Given the description of an element on the screen output the (x, y) to click on. 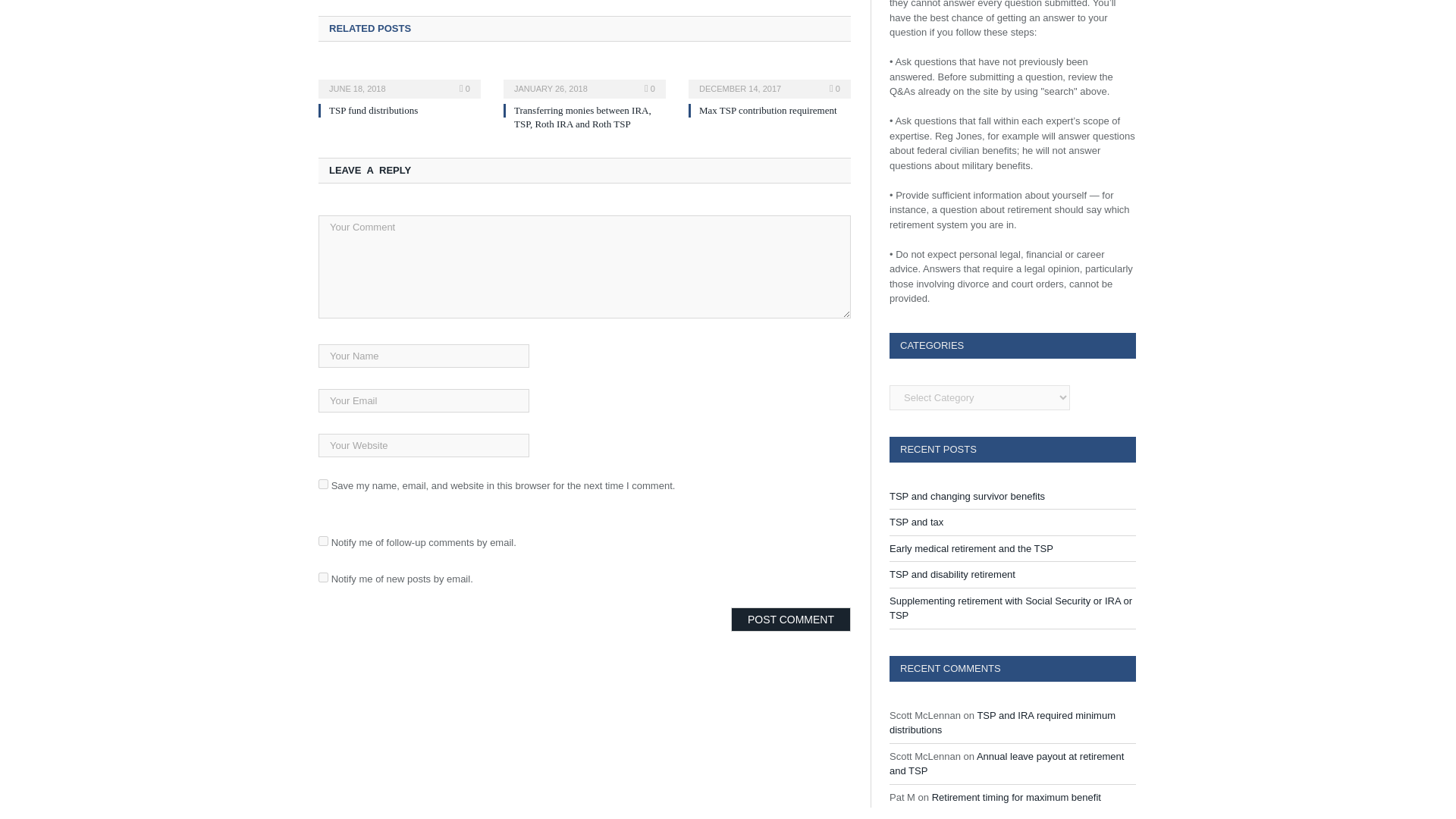
subscribe (323, 541)
TSP fund distributions (373, 110)
Post Comment (790, 619)
subscribe (323, 577)
yes (323, 483)
